Given the description of an element on the screen output the (x, y) to click on. 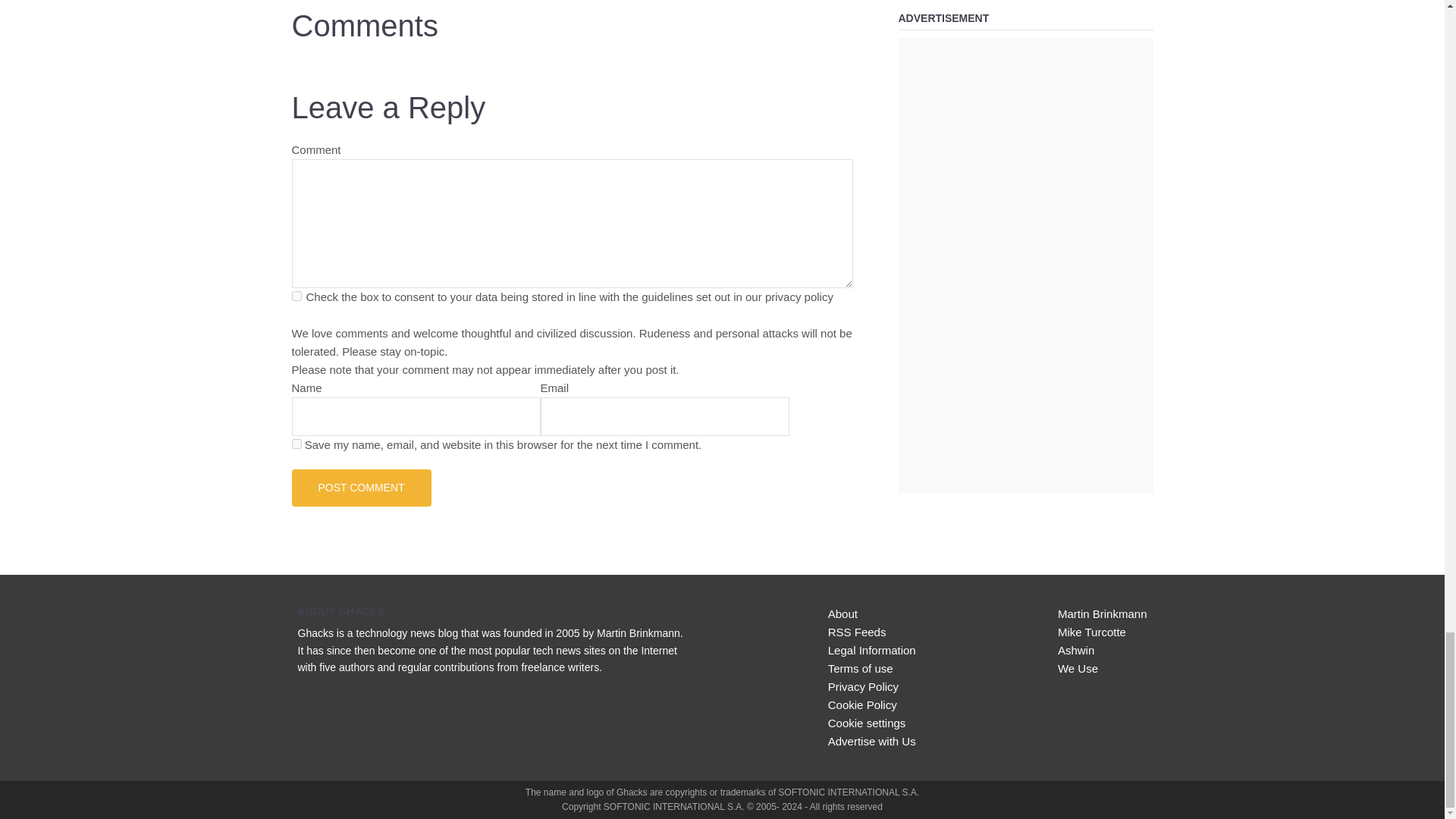
Post Comment (360, 487)
privacy-key (296, 296)
yes (296, 443)
